Given the description of an element on the screen output the (x, y) to click on. 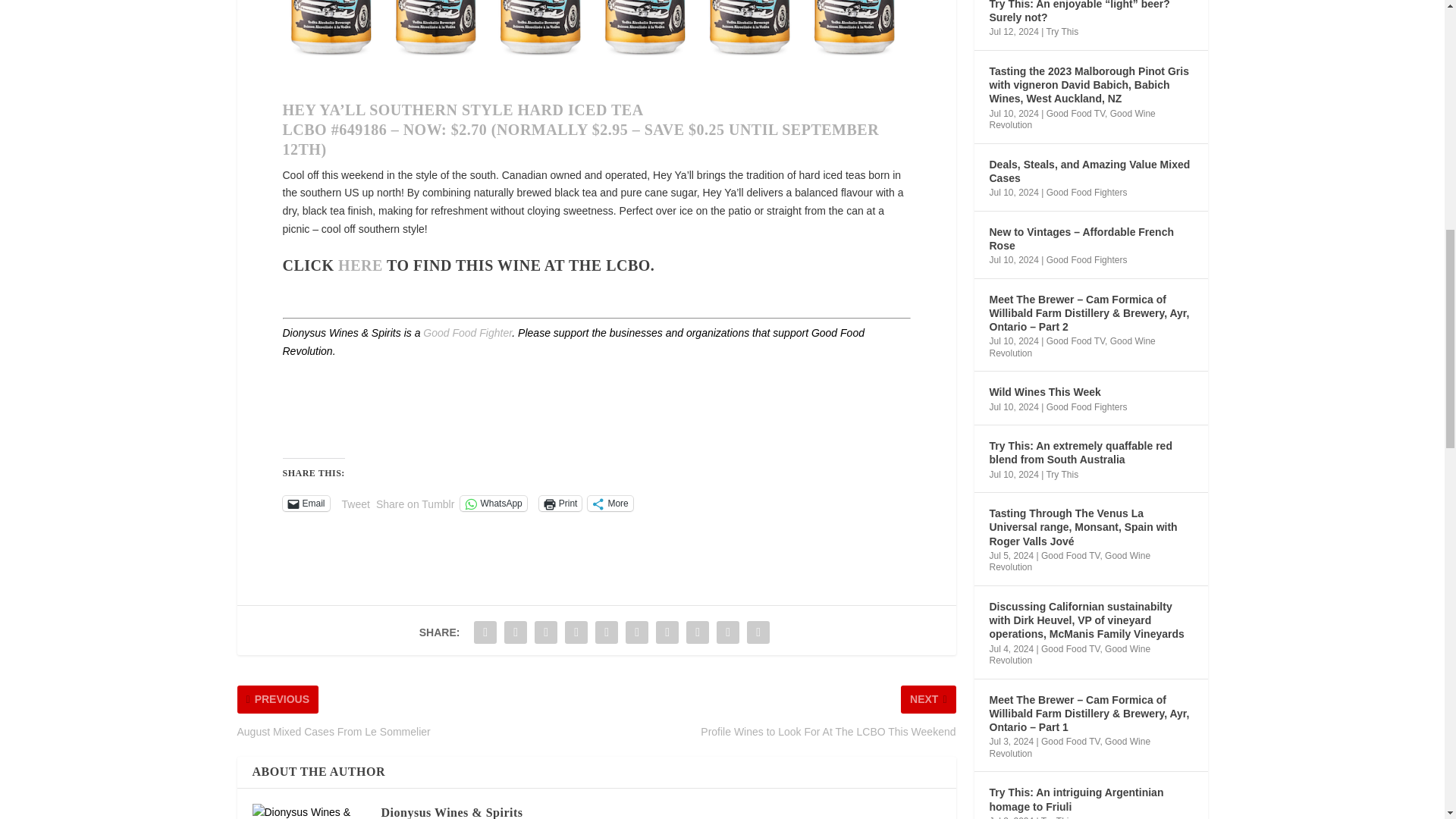
WhatsApp (492, 503)
Click to share on WhatsApp (492, 503)
Share "Cool Off, Southern Style" via Tumblr (575, 632)
Share "Cool Off, Southern Style" via Facebook (485, 632)
Share on Tumblr (414, 502)
Good Food Fighter (467, 332)
Tweet (355, 502)
Click to email a link to a friend (305, 503)
Click to print (560, 503)
Share "Cool Off, Southern Style" via Pinterest (606, 632)
Share "Cool Off, Southern Style" via Stumbleupon (697, 632)
Email (305, 503)
HERE (359, 265)
Share "Cool Off, Southern Style" via Twitter (515, 632)
Share "Cool Off, Southern Style" via Buffer (667, 632)
